Given the description of an element on the screen output the (x, y) to click on. 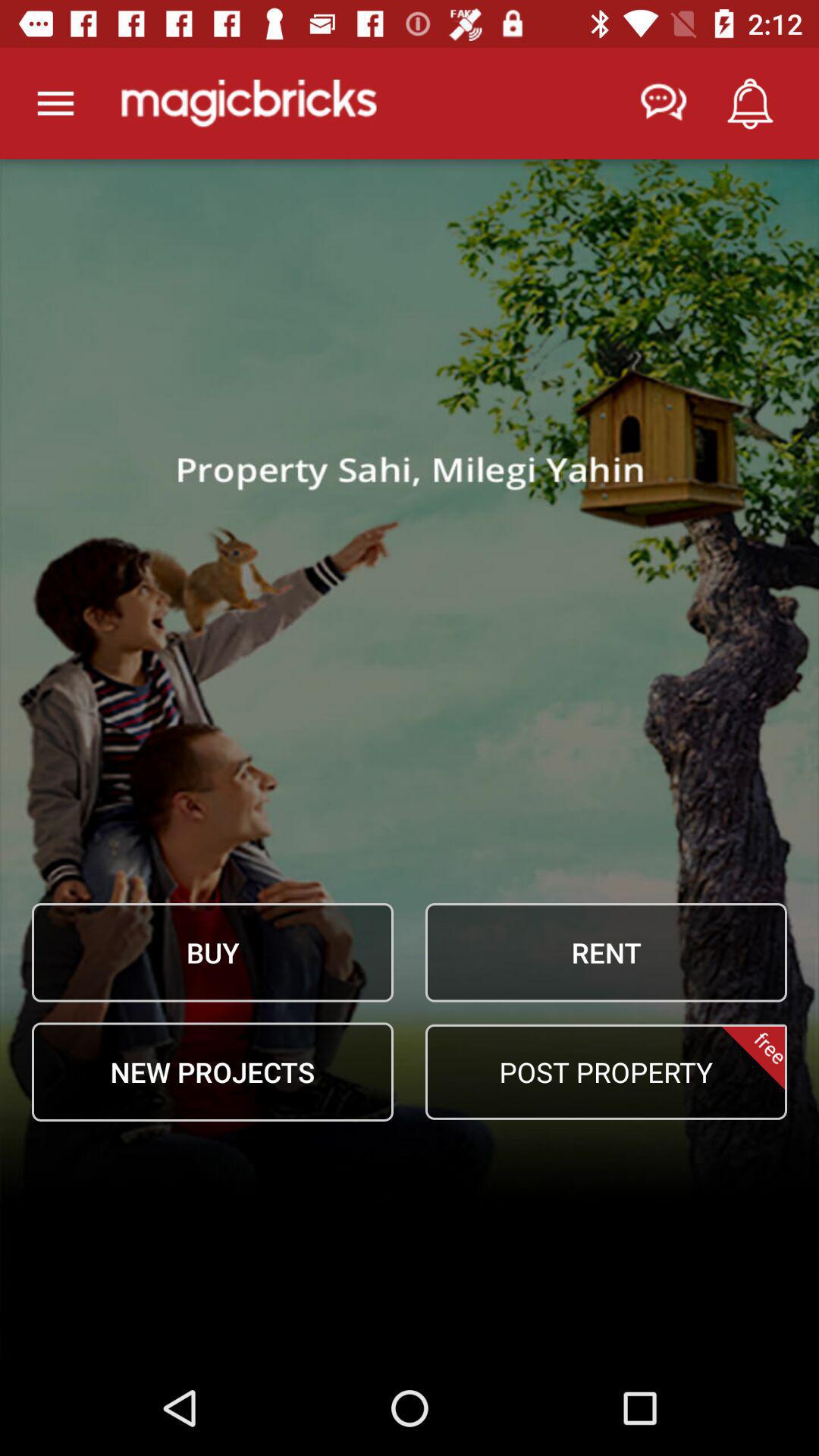
launch item below buy item (212, 1071)
